Given the description of an element on the screen output the (x, y) to click on. 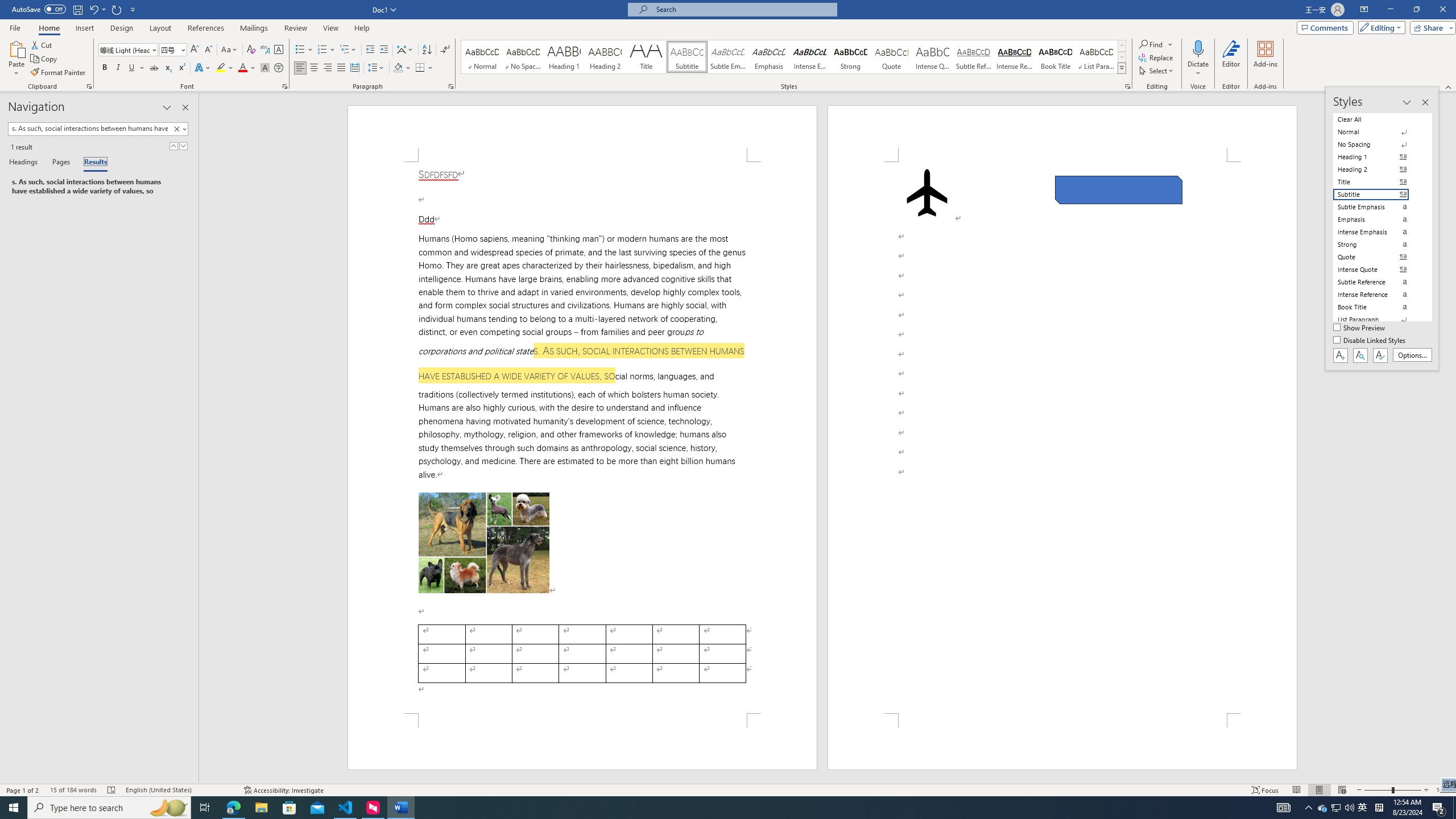
Class: NetUIButton (1380, 355)
